Given the description of an element on the screen output the (x, y) to click on. 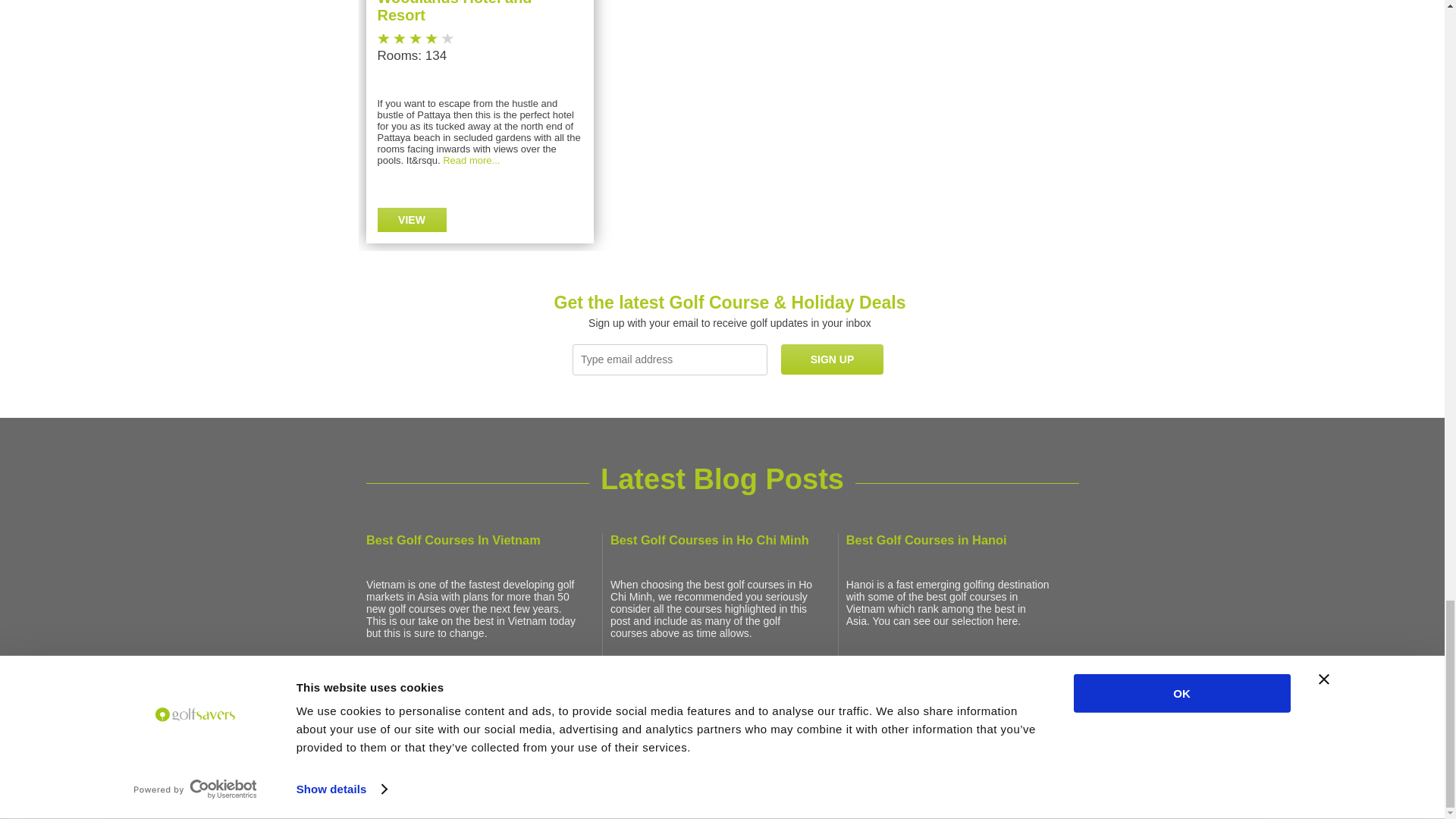
SIGN UP (831, 358)
